Given the description of an element on the screen output the (x, y) to click on. 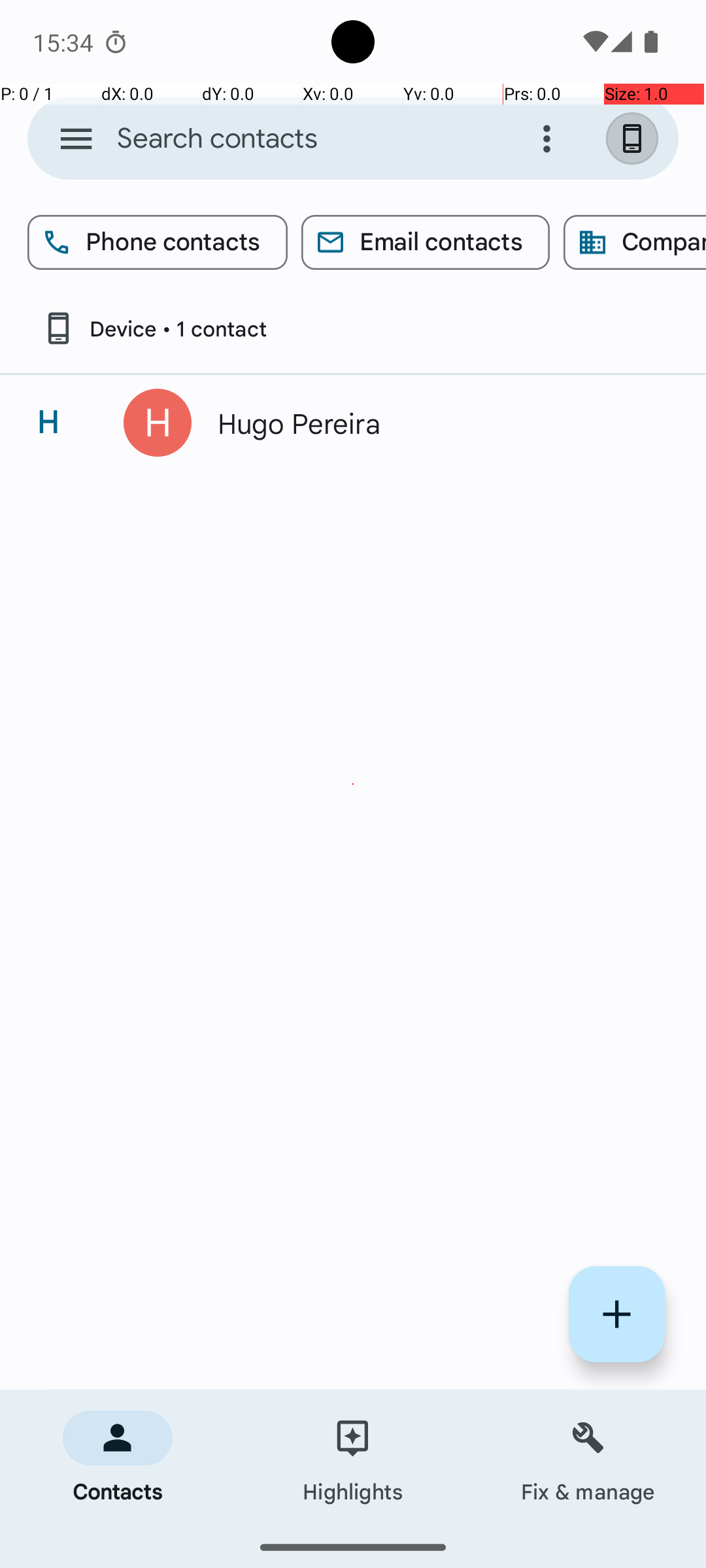
Device • 1 contact Element type: android.widget.TextView (153, 328)
Hugo Pereira Element type: android.widget.TextView (434, 422)
